Given the description of an element on the screen output the (x, y) to click on. 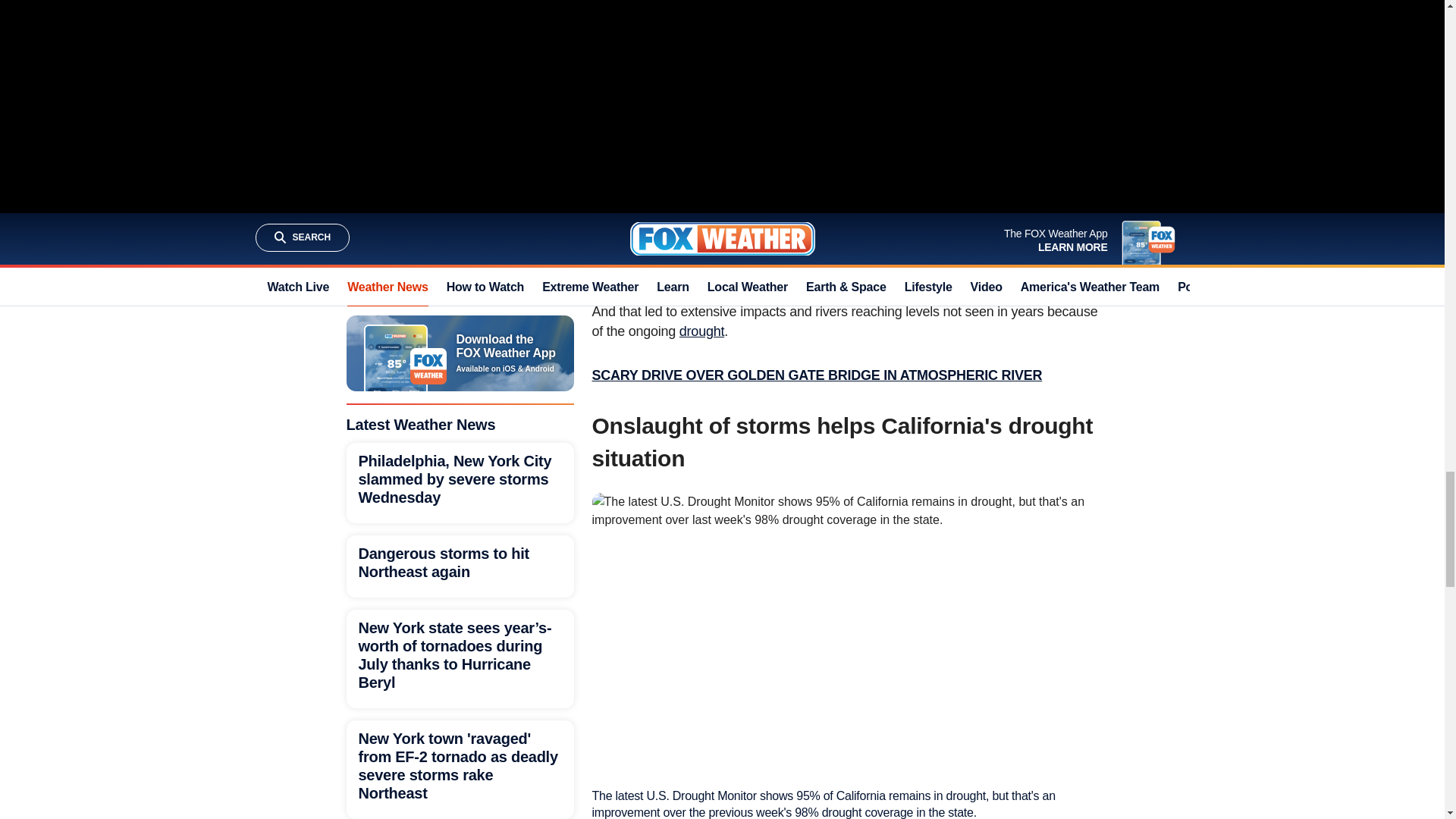
SCARY DRIVE OVER GOLDEN GATE BRIDGE IN ATMOSPHERIC RIVER (816, 375)
drought (701, 331)
